Given the description of an element on the screen output the (x, y) to click on. 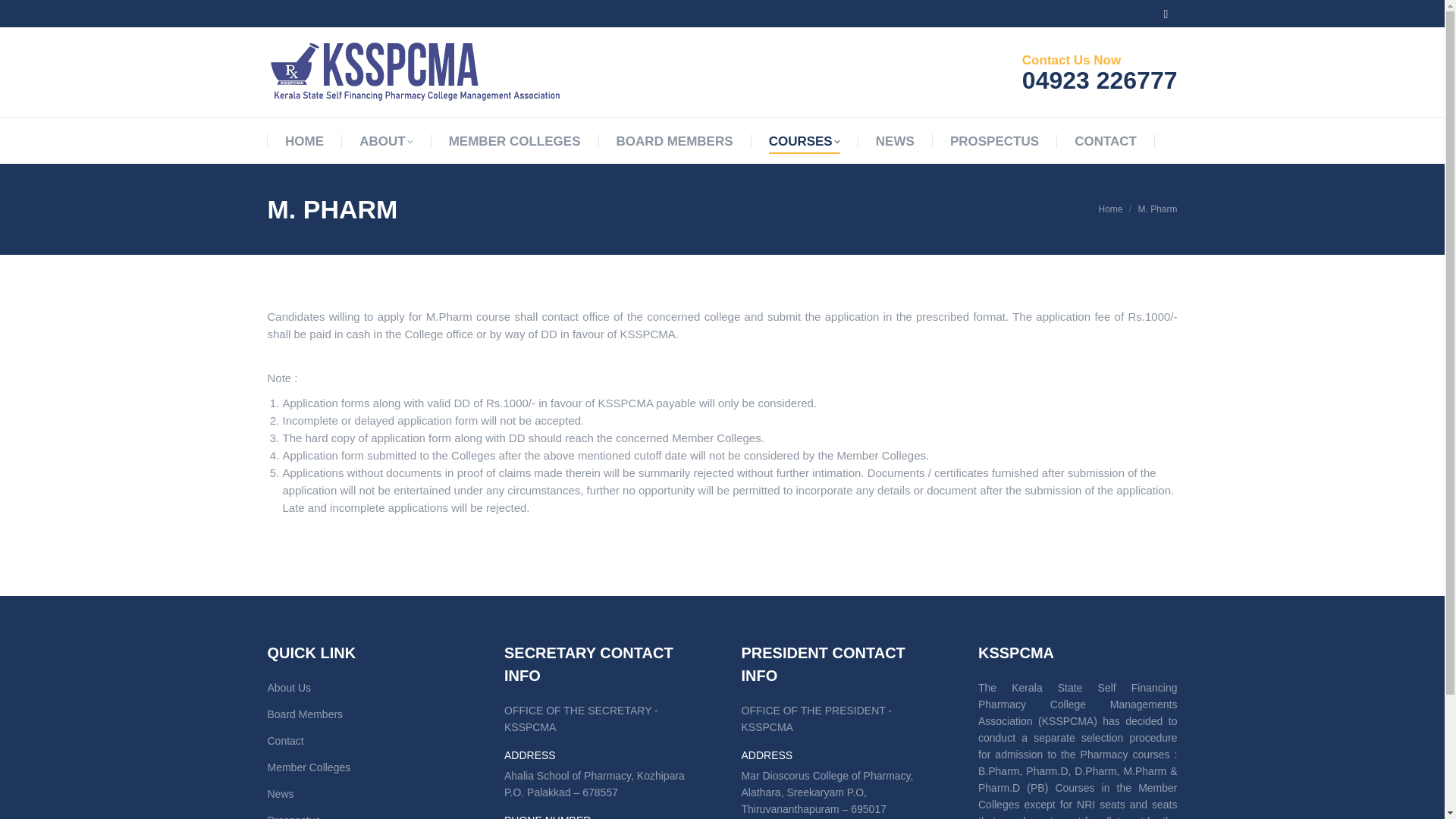
MEMBER COLLEGES (514, 141)
ABOUT (385, 141)
Home (1109, 208)
HOME (304, 141)
CONTACT (1105, 141)
PROSPECTUS (994, 141)
COURSES (804, 141)
NEWS (895, 141)
BOARD MEMBERS (674, 141)
